Given the description of an element on the screen output the (x, y) to click on. 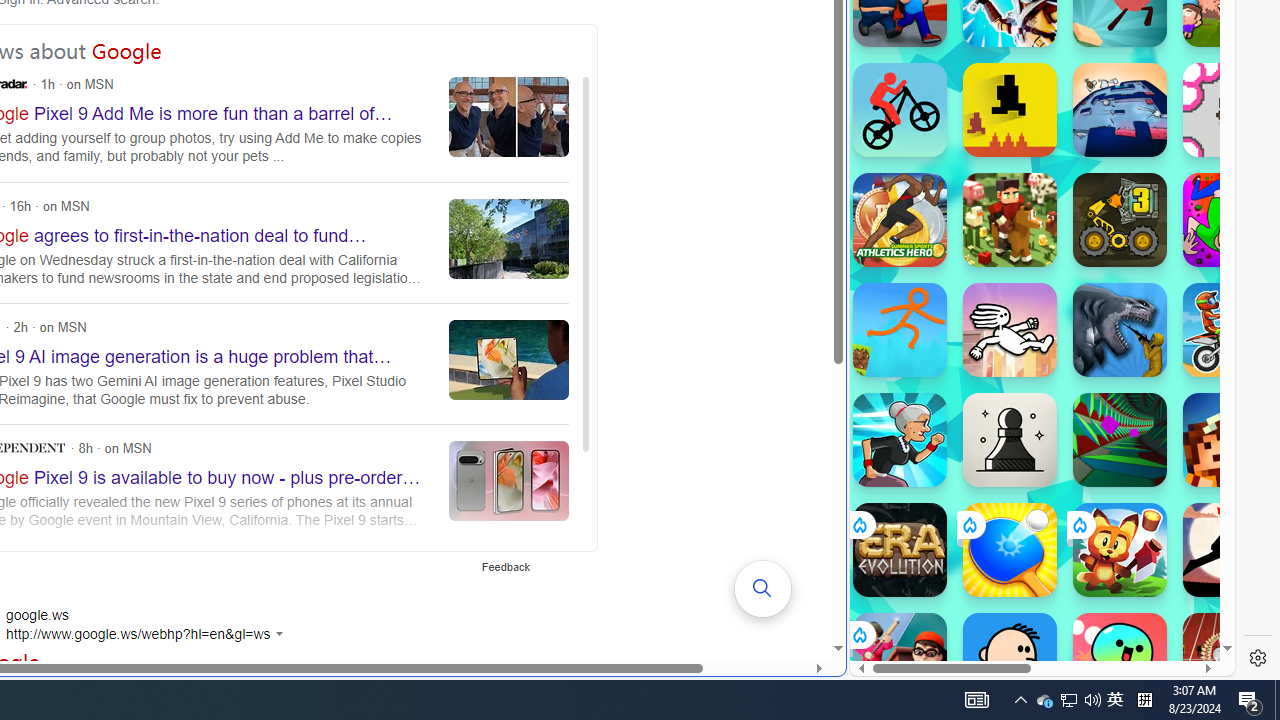
Lurkers.io (1229, 439)
Dreadhead Parkour (1009, 329)
Stickman Parkour Skyland (899, 329)
Into the Pit Into the Pit (1229, 109)
Hills of Steel Hills of Steel poki.com (943, 245)
School Escape! School Escape! (899, 659)
BoxRob 3 BoxRob 3 (1119, 219)
Fox Island Builder Fox Island Builder (1119, 549)
Fox Island Builder (1119, 549)
Stickman Parkour Skyland Stickman Parkour Skyland (899, 329)
Level Devil (1009, 109)
The Speed Ninja (1229, 549)
poki.com (1092, 338)
Combat Reloaded (1092, 200)
